Given the description of an element on the screen output the (x, y) to click on. 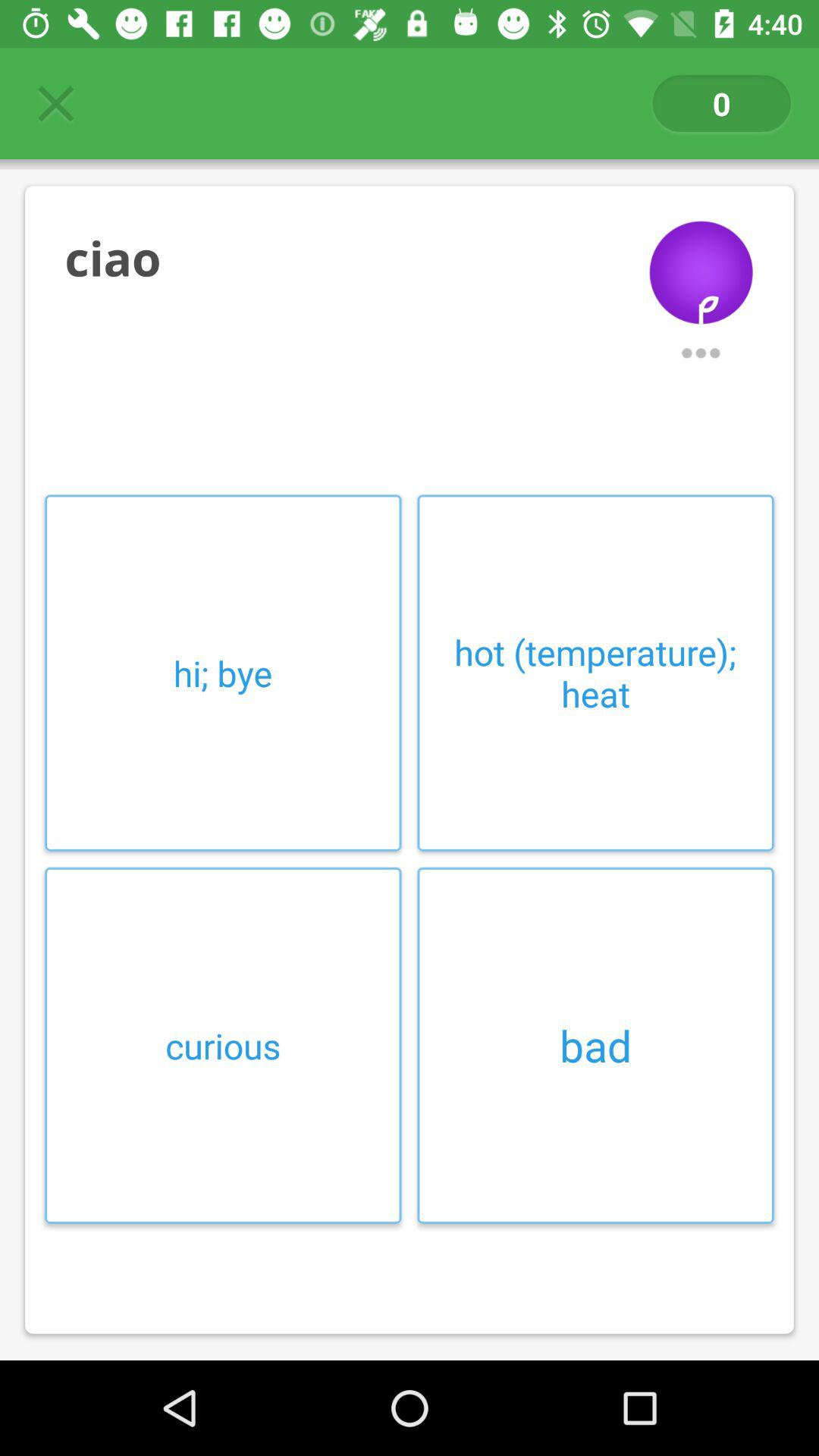
open item next to curious icon (595, 1045)
